Given the description of an element on the screen output the (x, y) to click on. 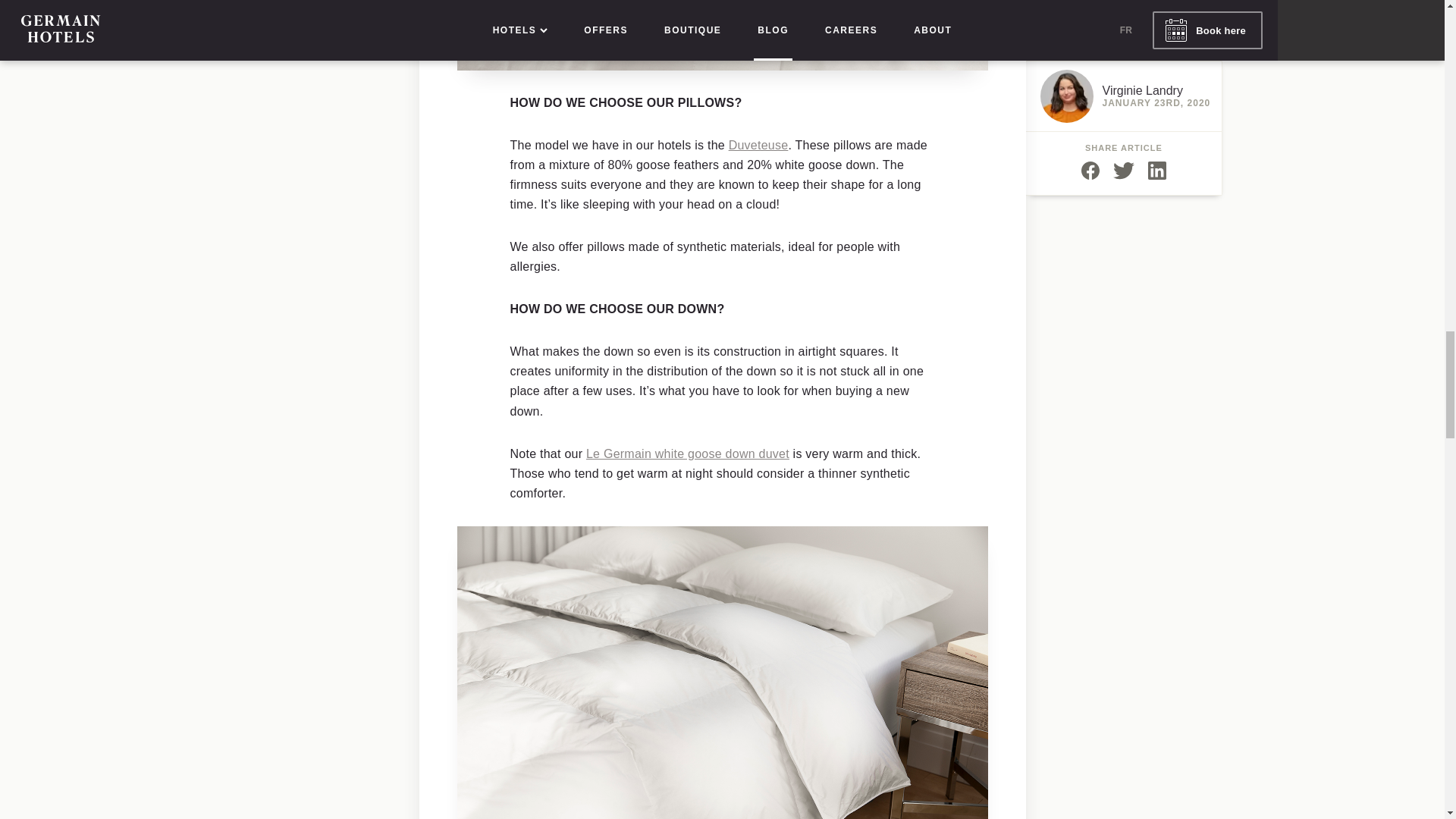
Le Germain white goose down duvet (687, 453)
Le Germain down (687, 453)
Duveteuse (759, 144)
Duveteuse (759, 144)
